Given the description of an element on the screen output the (x, y) to click on. 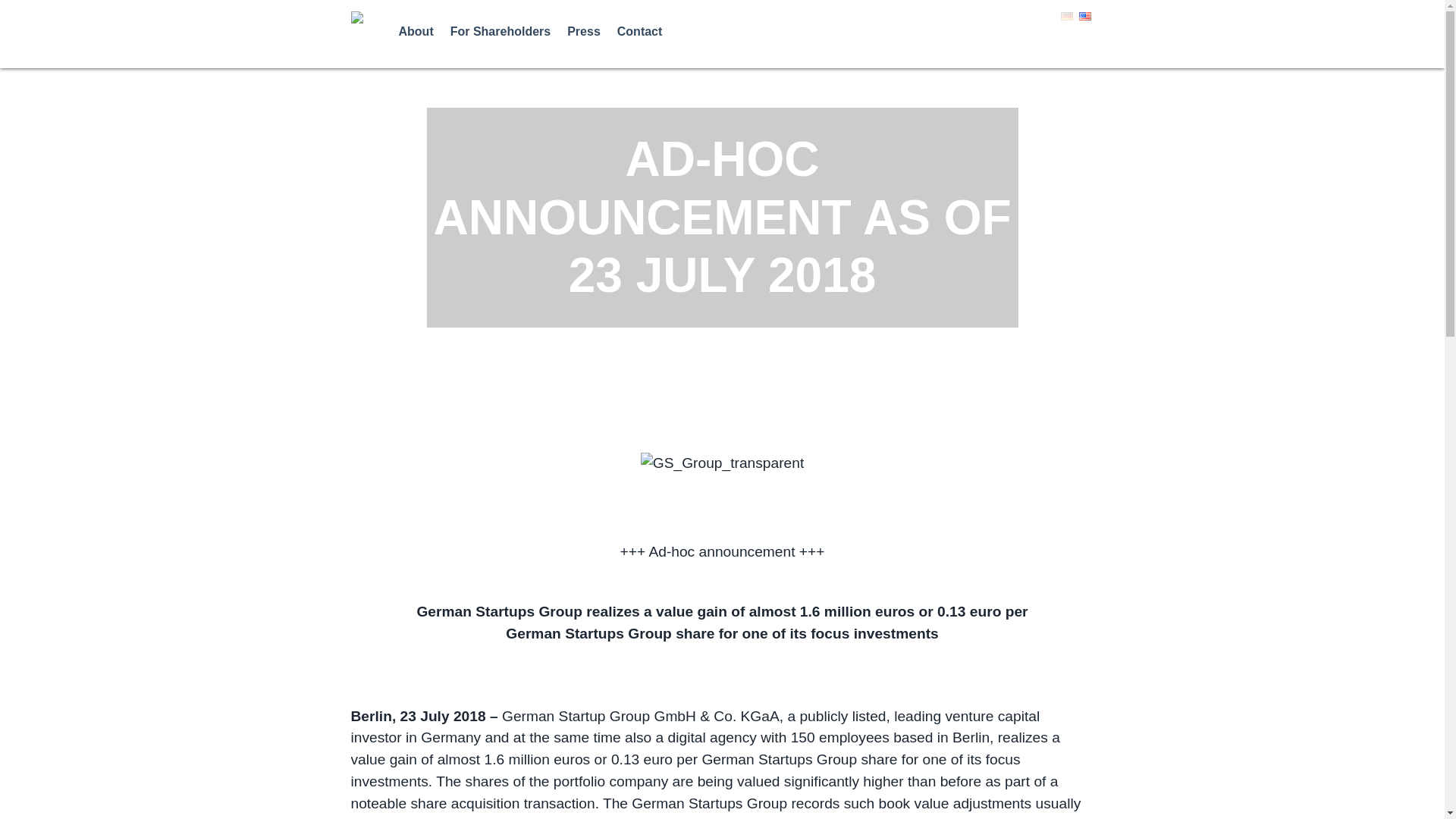
About (423, 31)
For Shareholders (508, 31)
English (1084, 16)
Deutsch (1065, 16)
Press (592, 31)
